Given the description of an element on the screen output the (x, y) to click on. 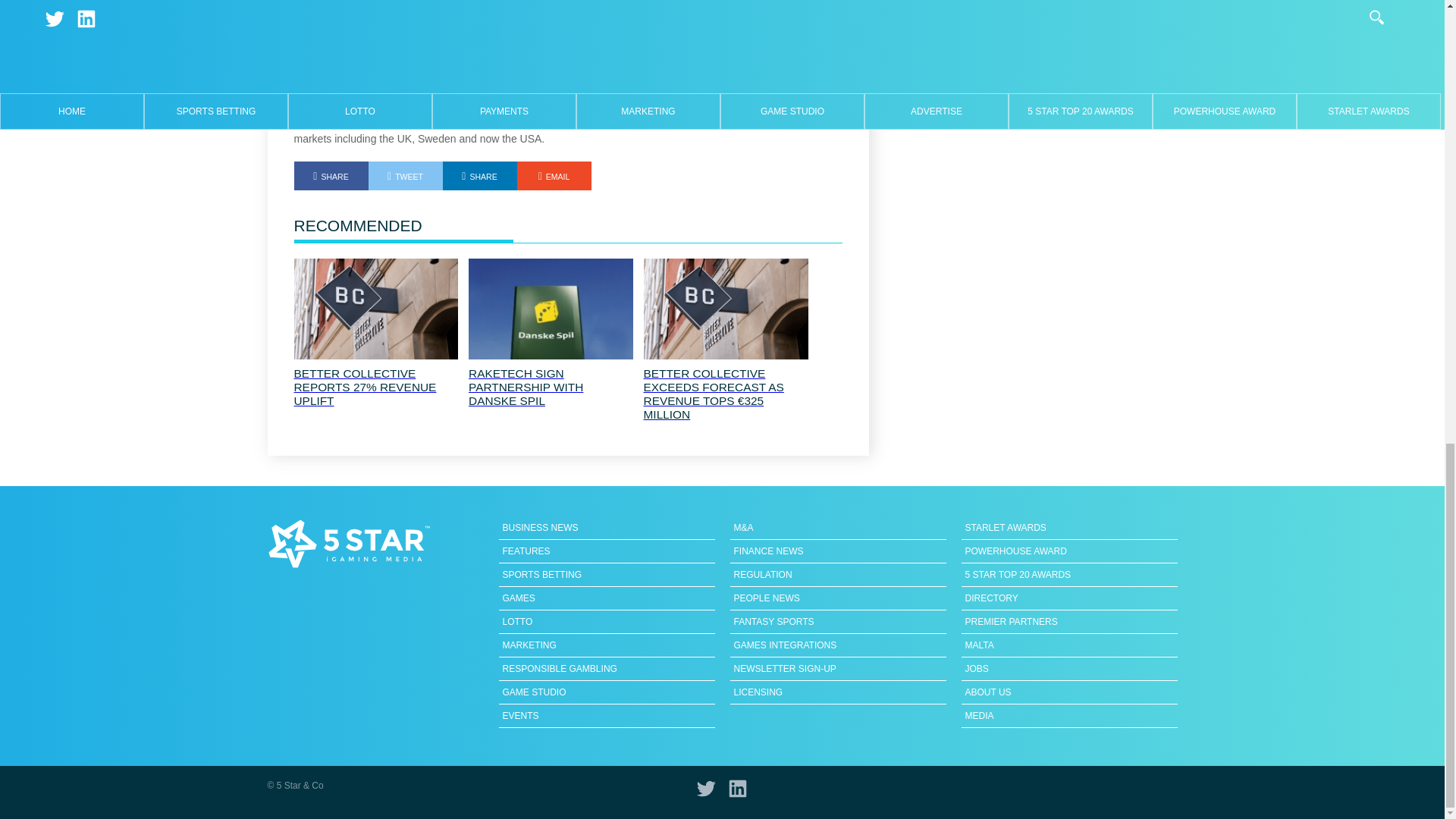
Facebook (331, 175)
SHARE (331, 175)
Mail (553, 175)
TWEET (405, 175)
RAKETECH SIGN PARTNERSHIP WITH DANSKE SPIL (550, 386)
EMAIL (553, 175)
SHARE (479, 175)
Linkedin (479, 175)
Twitter (405, 175)
